Given the description of an element on the screen output the (x, y) to click on. 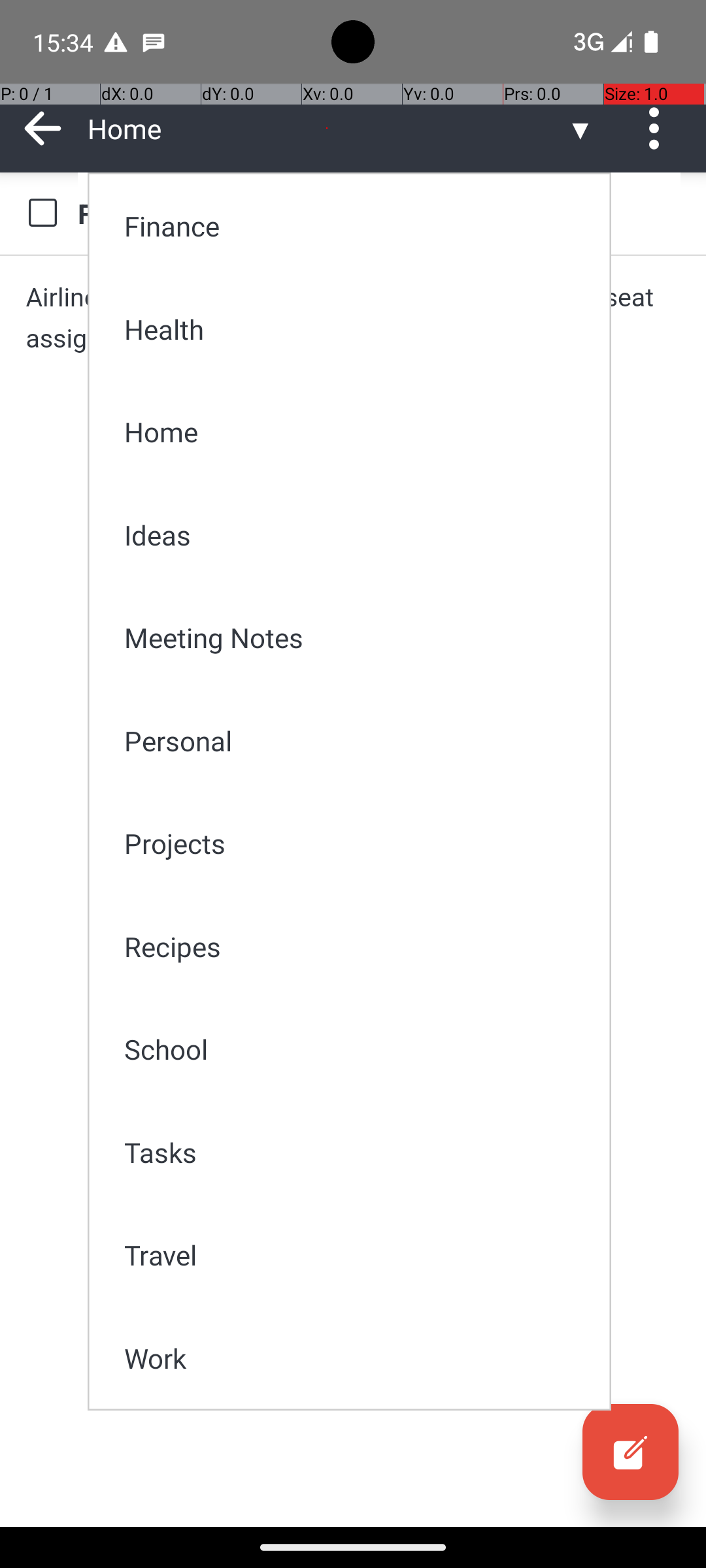
Finance Element type: android.widget.TextView (358, 225)
Health Element type: android.widget.TextView (358, 328)
Ideas Element type: android.widget.TextView (358, 534)
Meeting Notes Element type: android.widget.TextView (358, 636)
Personal Element type: android.widget.TextView (358, 740)
Projects Element type: android.widget.TextView (358, 842)
Recipes Element type: android.widget.TextView (358, 945)
School Element type: android.widget.TextView (358, 1048)
Tasks Element type: android.widget.TextView (358, 1151)
Travel Element type: android.widget.TextView (358, 1254)
Work Element type: android.widget.TextView (358, 1357)
